Given the description of an element on the screen output the (x, y) to click on. 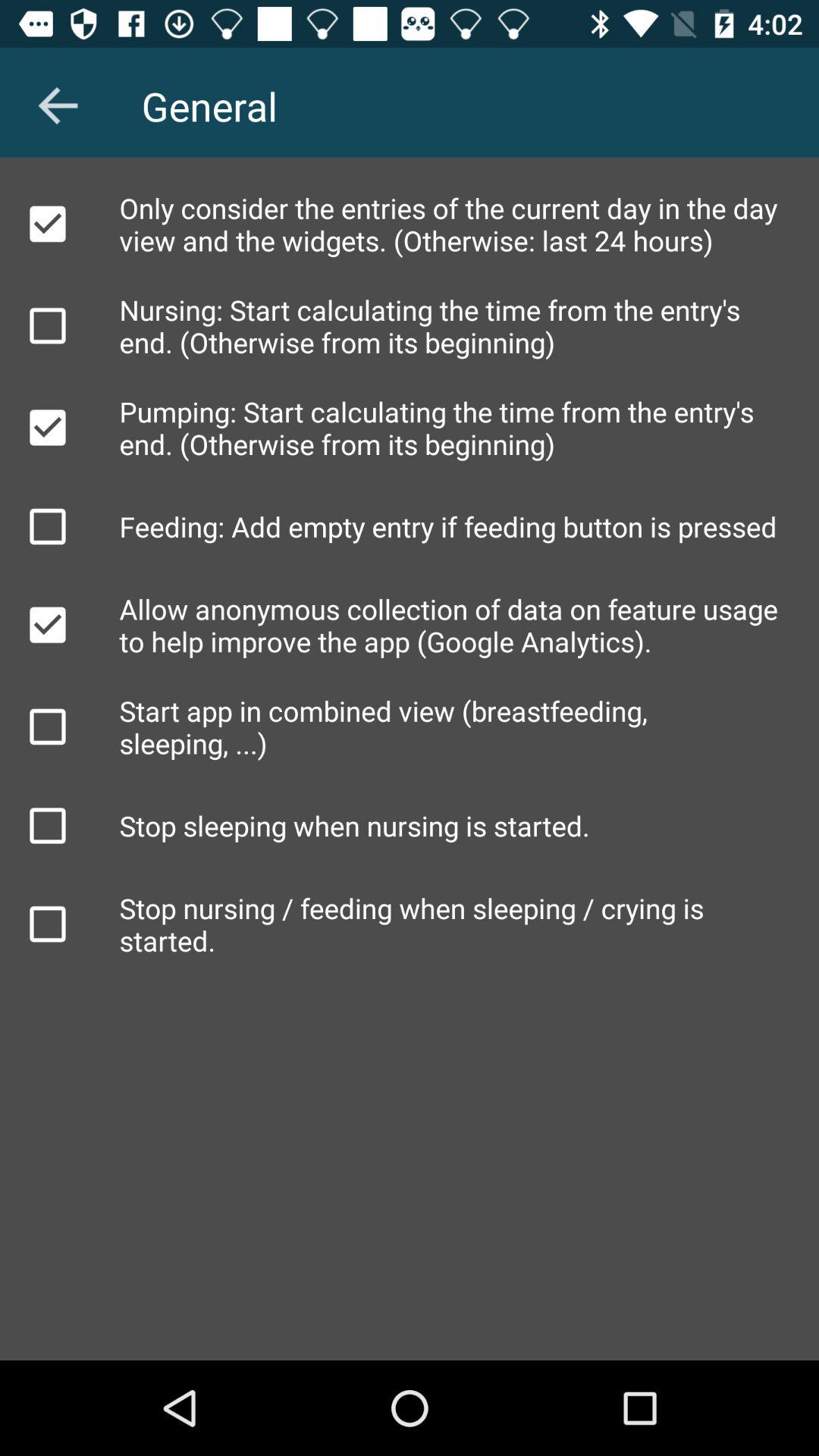
uncheck box (47, 223)
